Given the description of an element on the screen output the (x, y) to click on. 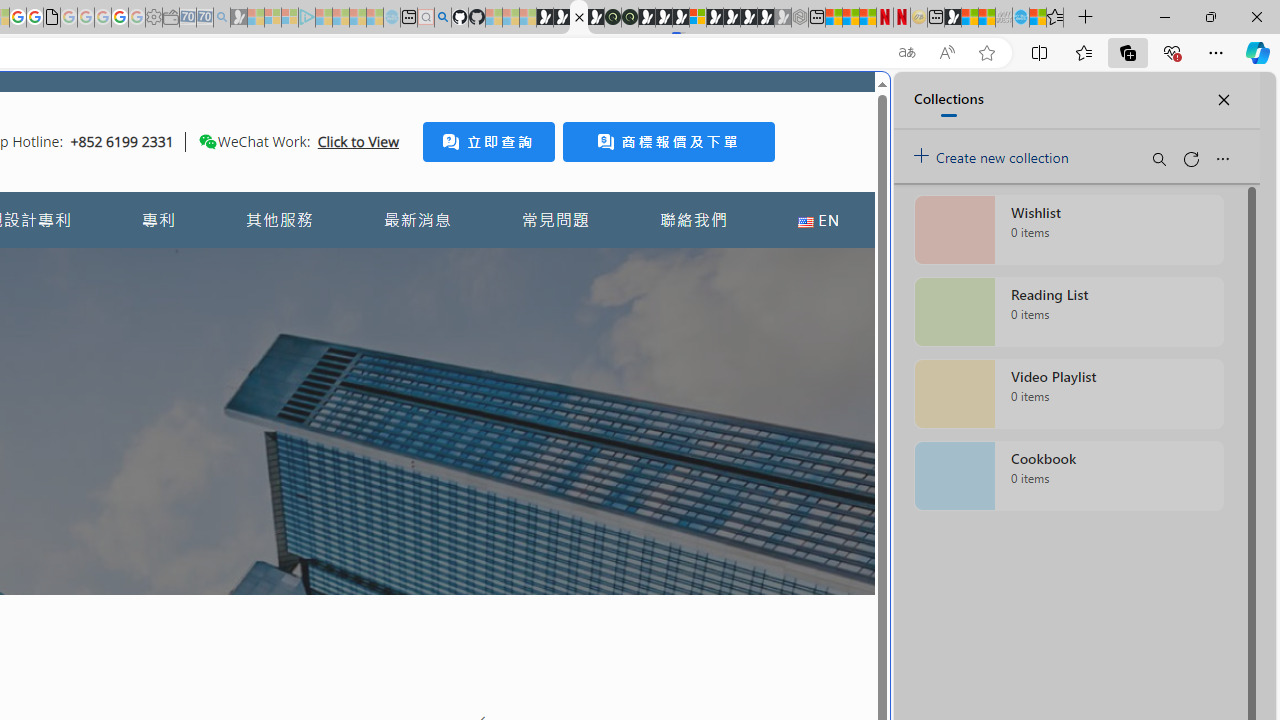
Class: desktop (207, 141)
google_privacy_policy_zh-CN.pdf (51, 17)
Future Focus Report 2024 (629, 17)
